Given the description of an element on the screen output the (x, y) to click on. 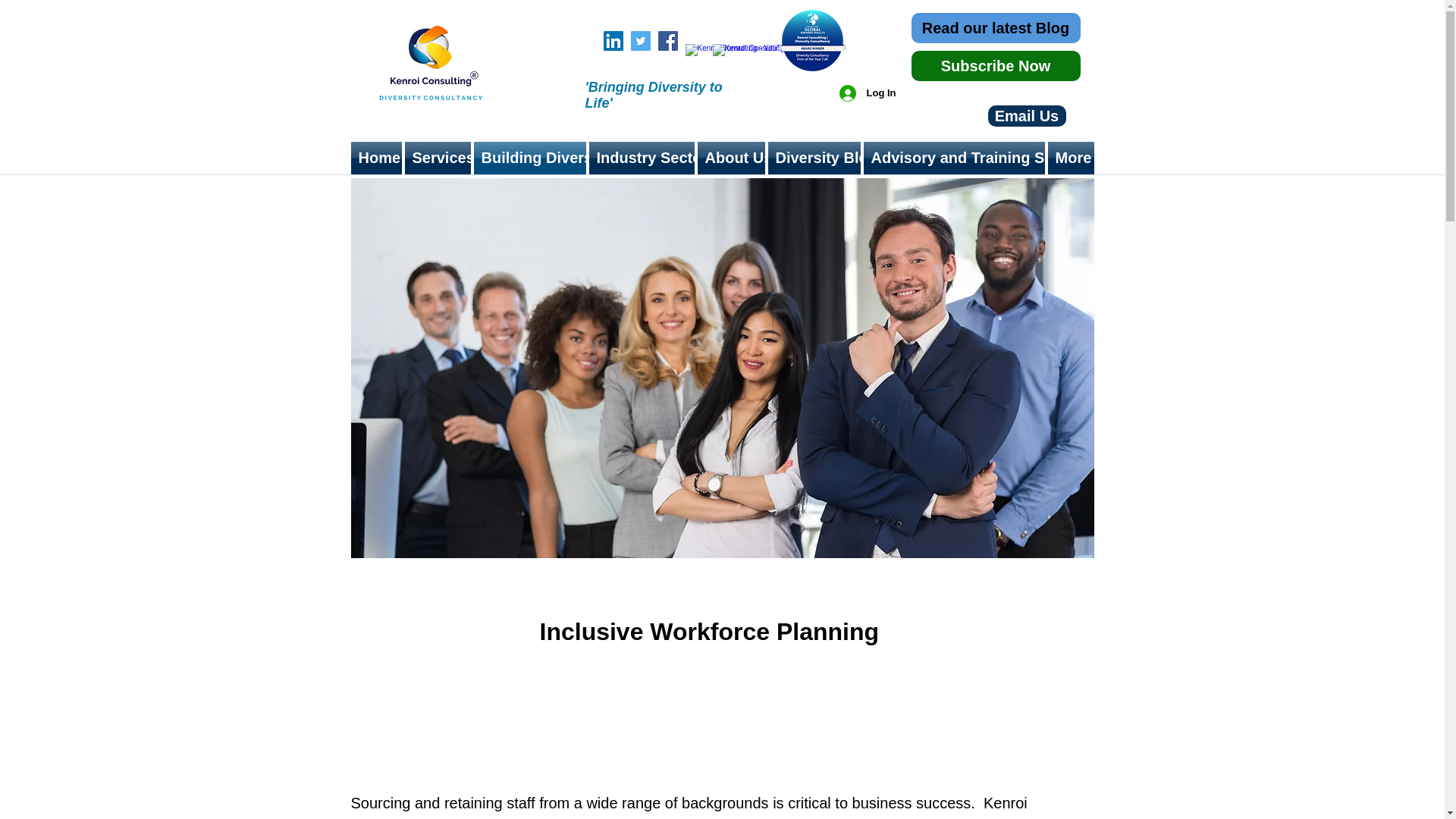
Subscribe Now (995, 65)
Email Us (1026, 115)
Log In (866, 93)
Services (437, 157)
Home (376, 157)
Building Diversity (528, 157)
Kenroi Consulting - Diversity Consultanc (811, 40)
Read our latest Blog (995, 28)
